Given the description of an element on the screen output the (x, y) to click on. 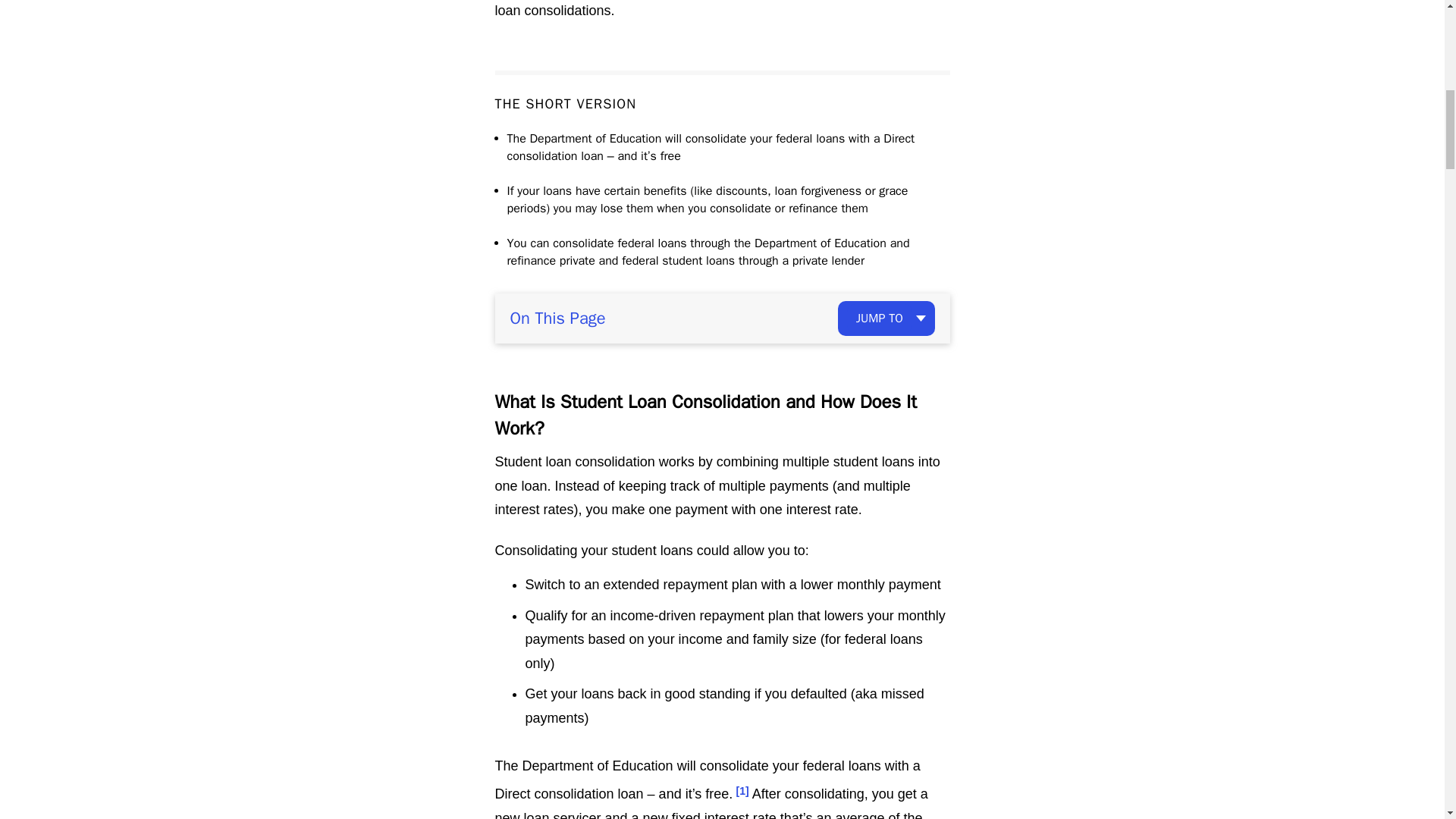
Jump to Article Sources (742, 790)
